Given the description of an element on the screen output the (x, y) to click on. 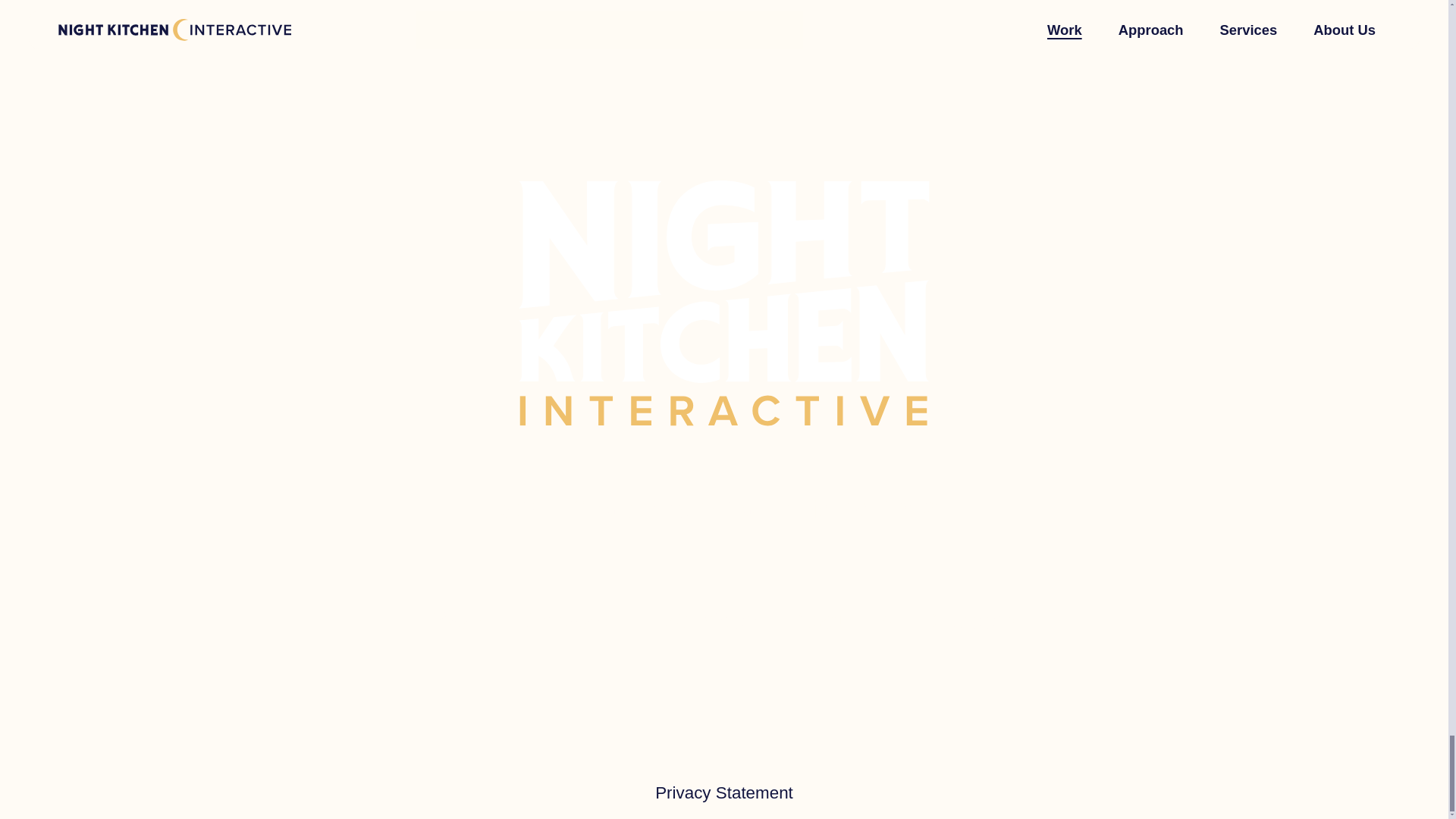
Work (458, 622)
Services (710, 622)
Careers (973, 622)
Approach (575, 622)
Privacy Statement (724, 793)
About Us (843, 622)
